Given the description of an element on the screen output the (x, y) to click on. 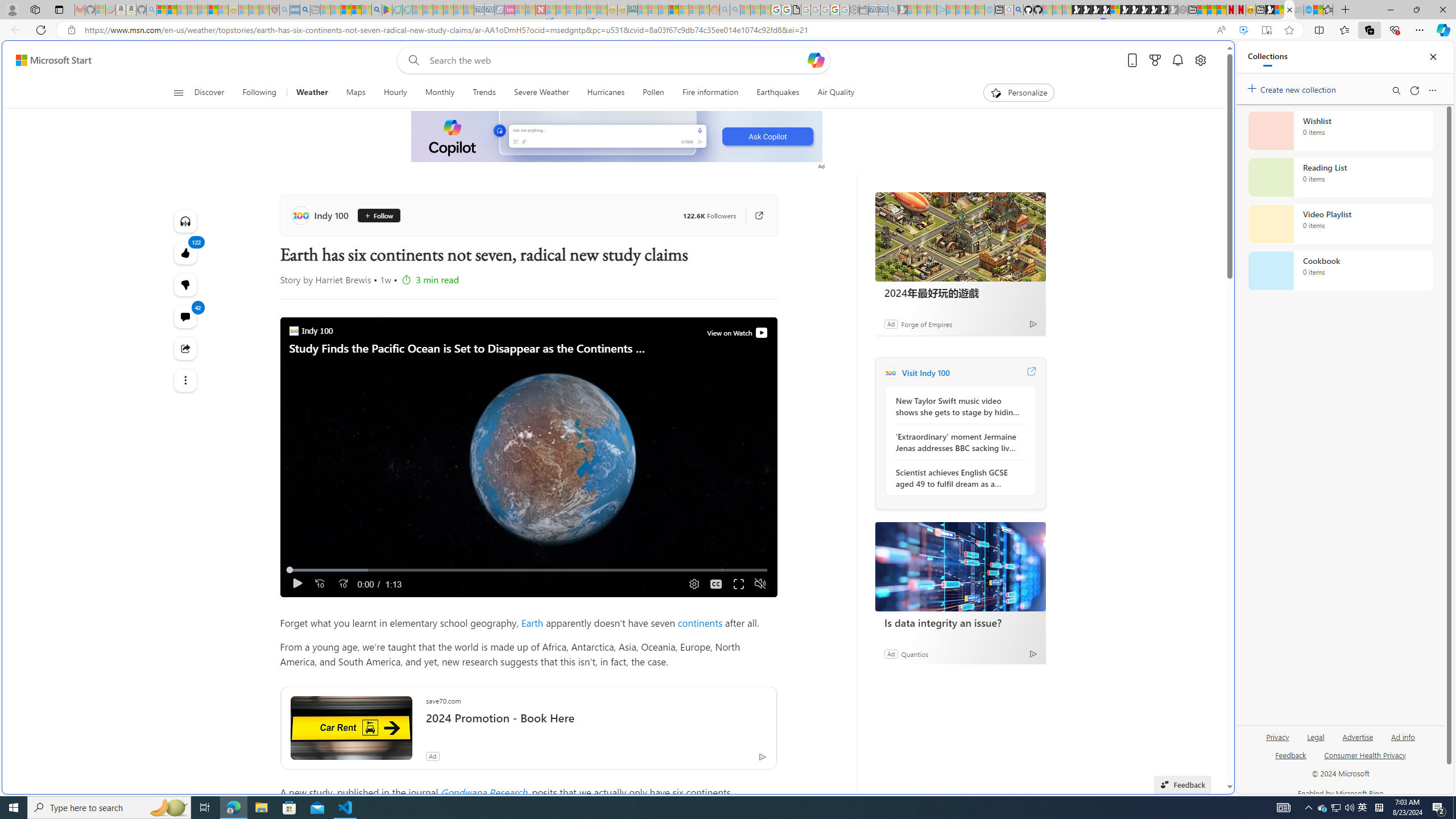
Local - MSN - Sleeping (263, 9)
Sign in to your account (1115, 9)
MSN (1118, 536)
Legal (1315, 741)
Search or enter web address (922, 108)
Video Playlist collection, 0 items (1339, 223)
Bing Real Estate - Home sales and rental listings - Sleeping (892, 9)
Expert Portfolios - Sleeping (673, 9)
Pollen (652, 92)
Severe Weather (540, 92)
Kinda Frugal - MSN - Sleeping (684, 9)
